Given the description of an element on the screen output the (x, y) to click on. 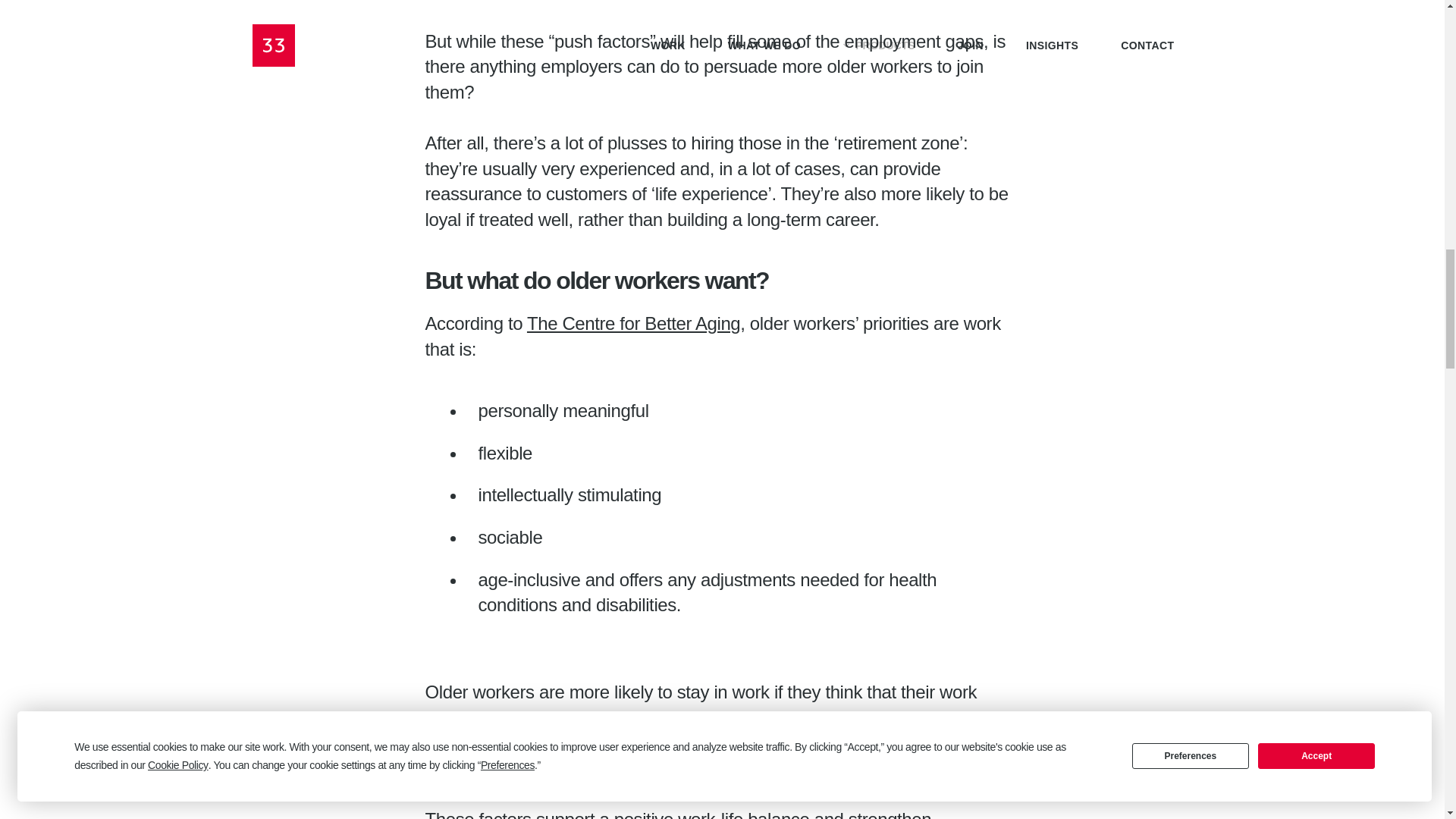
The Centre for Better Aging (633, 322)
